Given the description of an element on the screen output the (x, y) to click on. 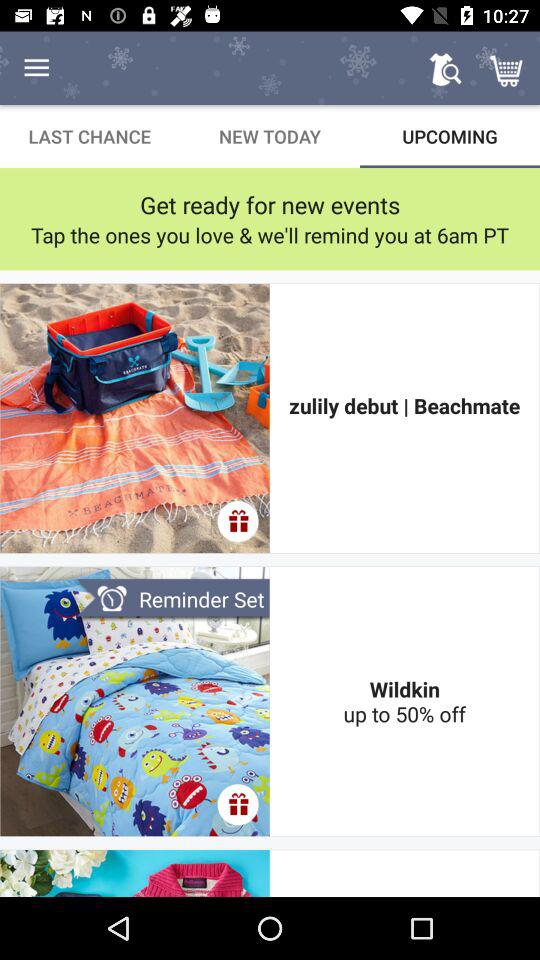
open item below the last chance item (270, 204)
